Given the description of an element on the screen output the (x, y) to click on. 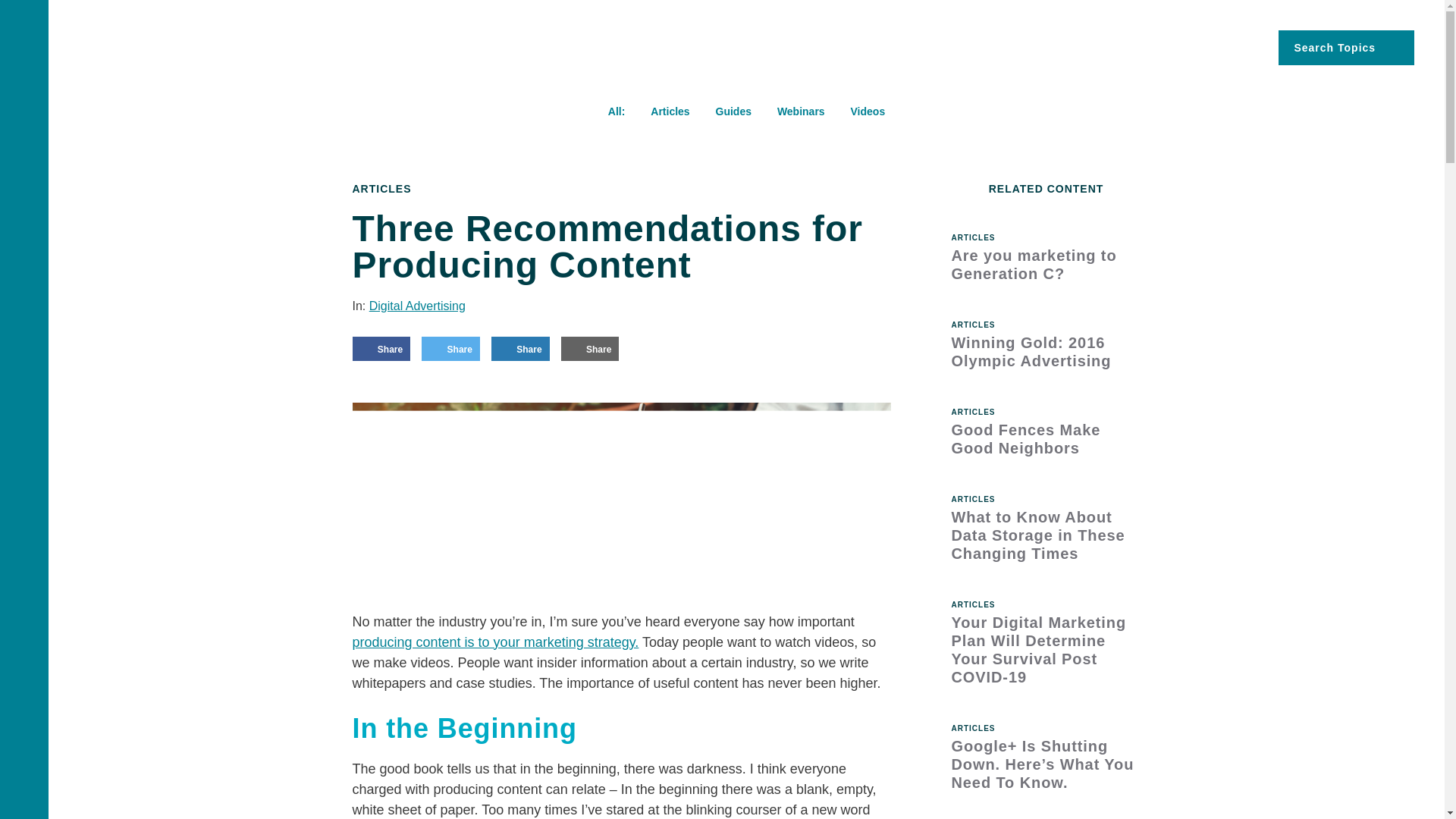
Menu (23, 46)
KeyMedia Solutions Home (175, 50)
